Given the description of an element on the screen output the (x, y) to click on. 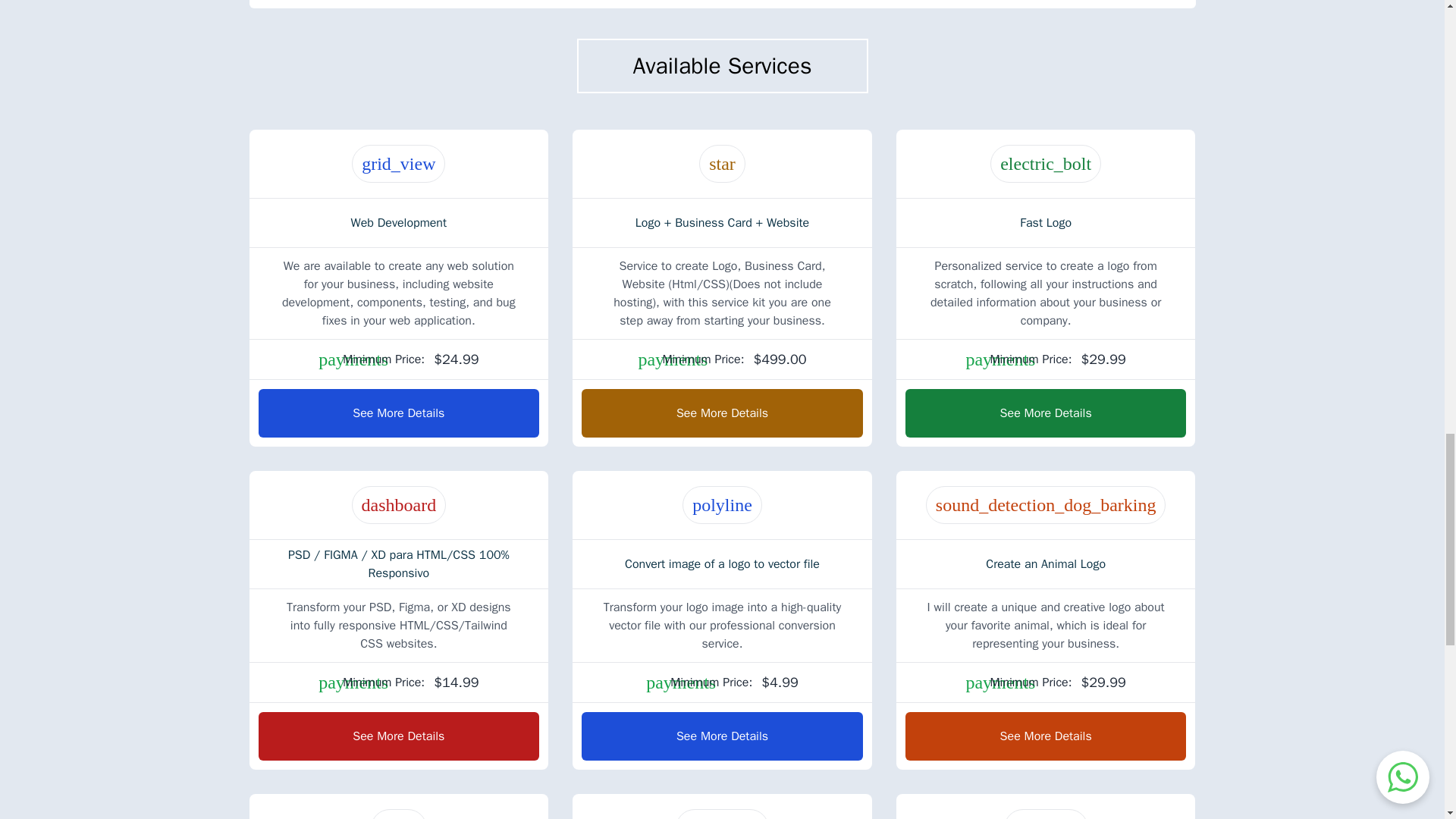
See More Details (721, 412)
See More Details (1045, 412)
See More Details (397, 412)
